Given the description of an element on the screen output the (x, y) to click on. 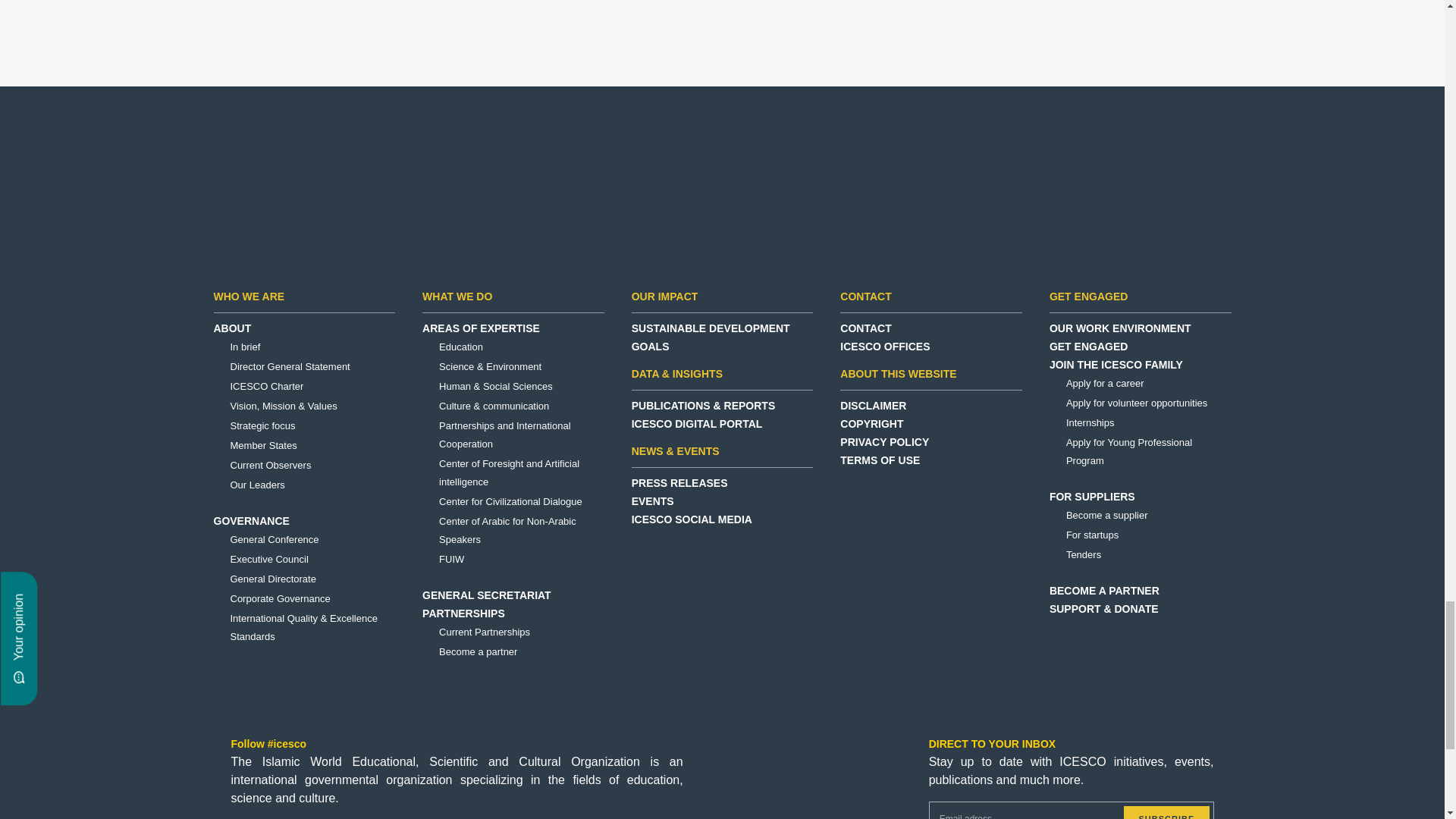
subscribe (1166, 812)
